Given the description of an element on the screen output the (x, y) to click on. 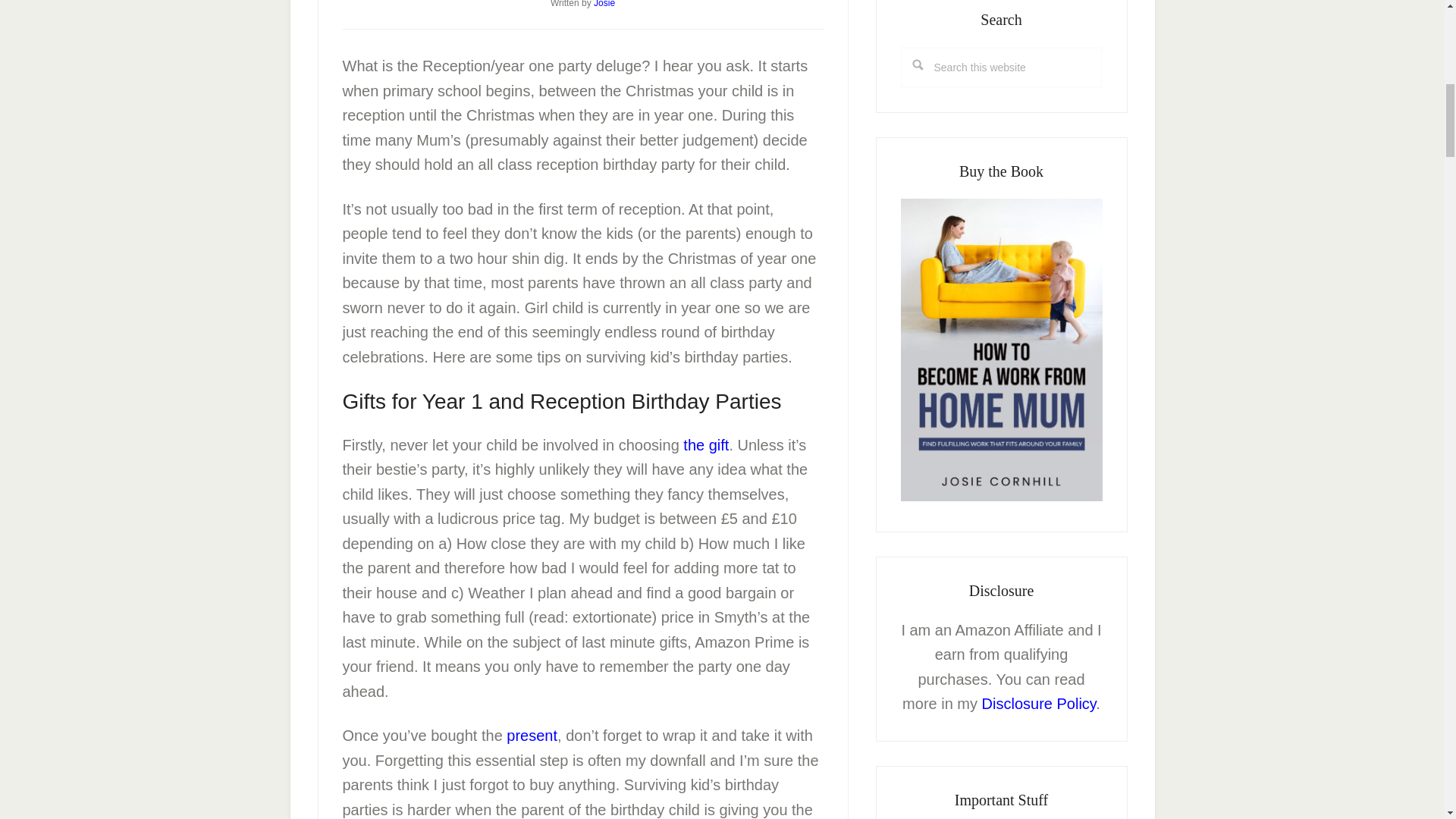
Josie (604, 4)
present (531, 735)
Essential Toys for 5-10 Year Olds (531, 735)
the gift (705, 444)
